Given the description of an element on the screen output the (x, y) to click on. 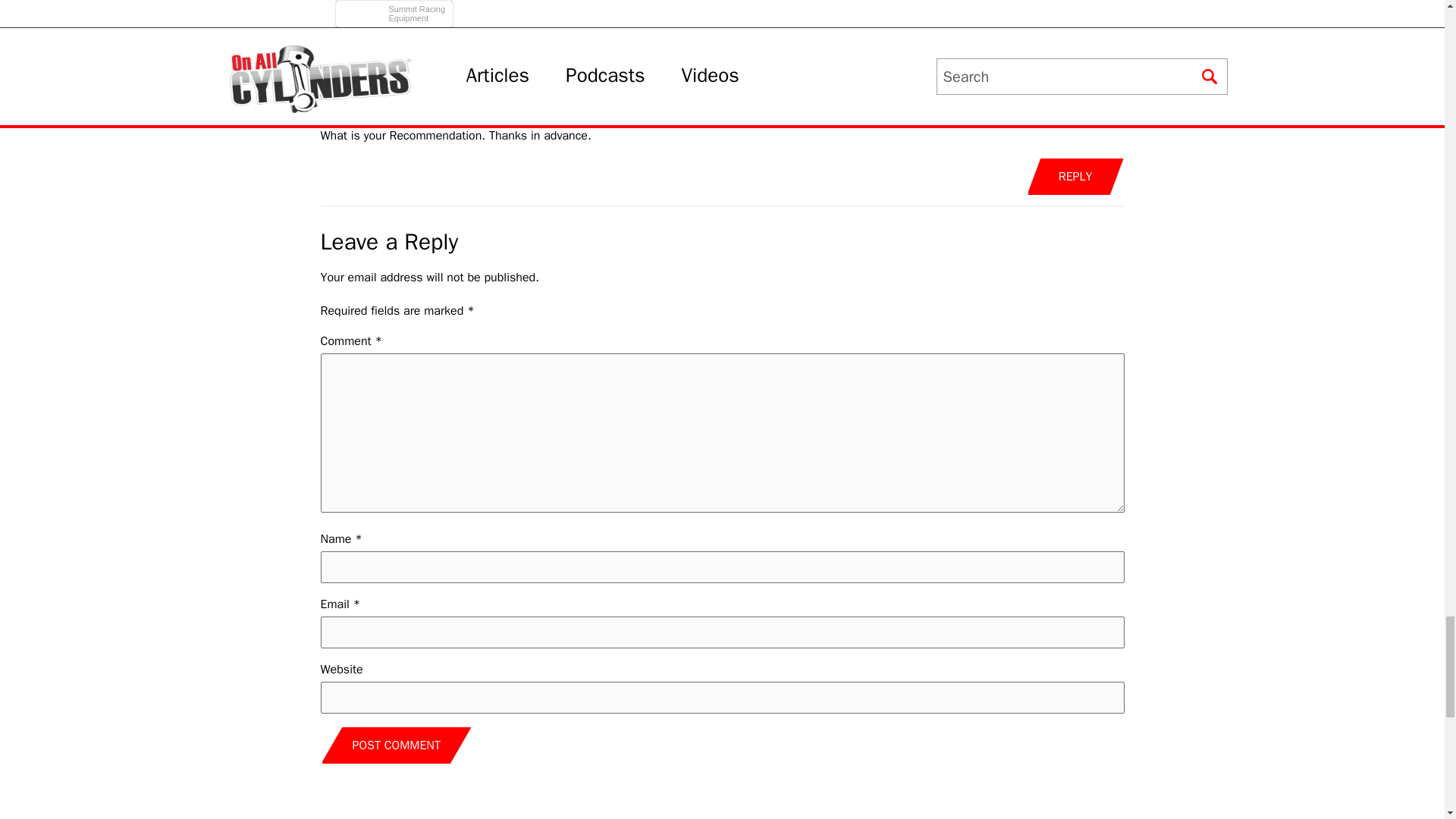
Post Comment (395, 744)
